Given the description of an element on the screen output the (x, y) to click on. 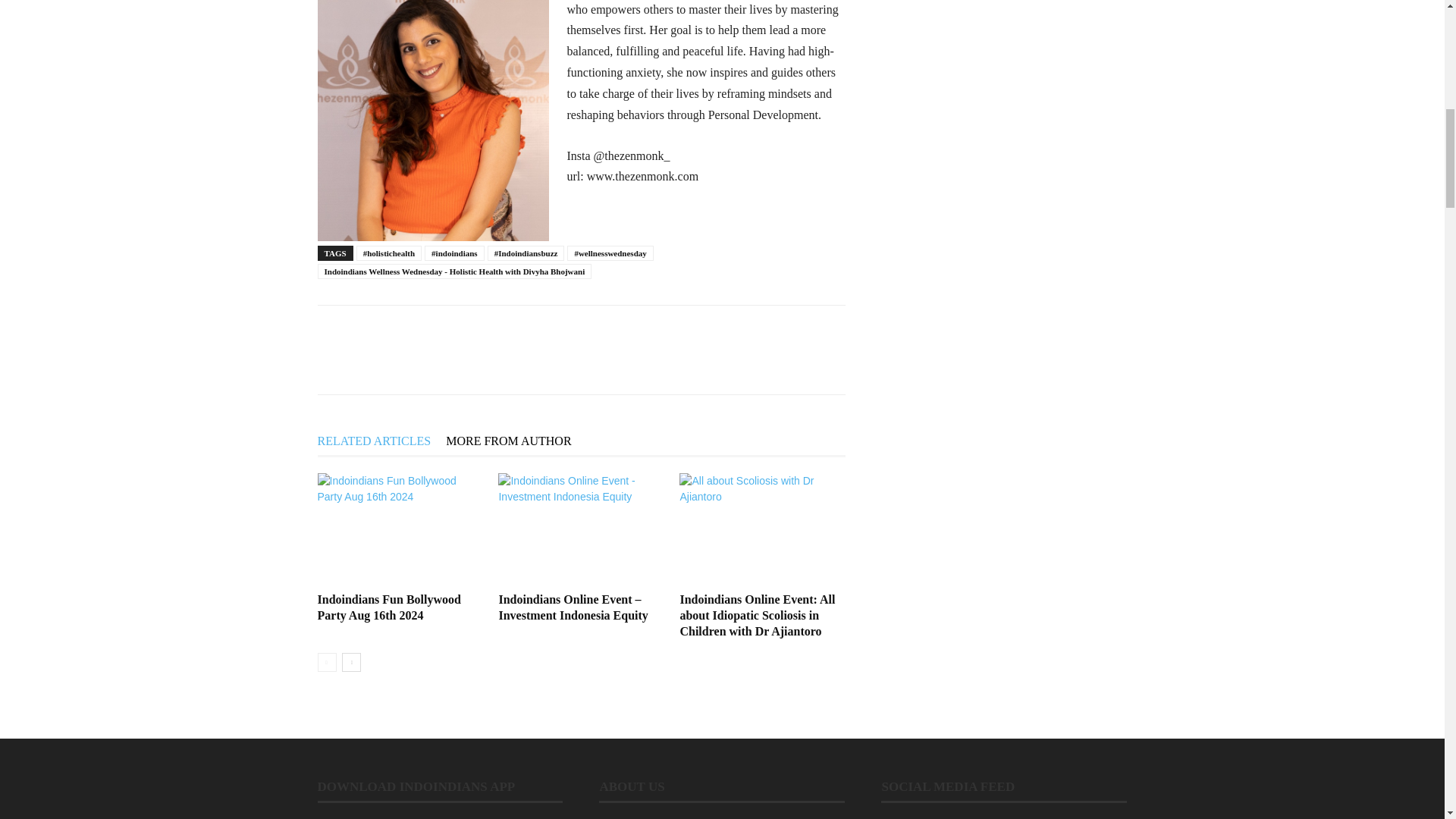
bottomFacebookLike (430, 329)
